Given the description of an element on the screen output the (x, y) to click on. 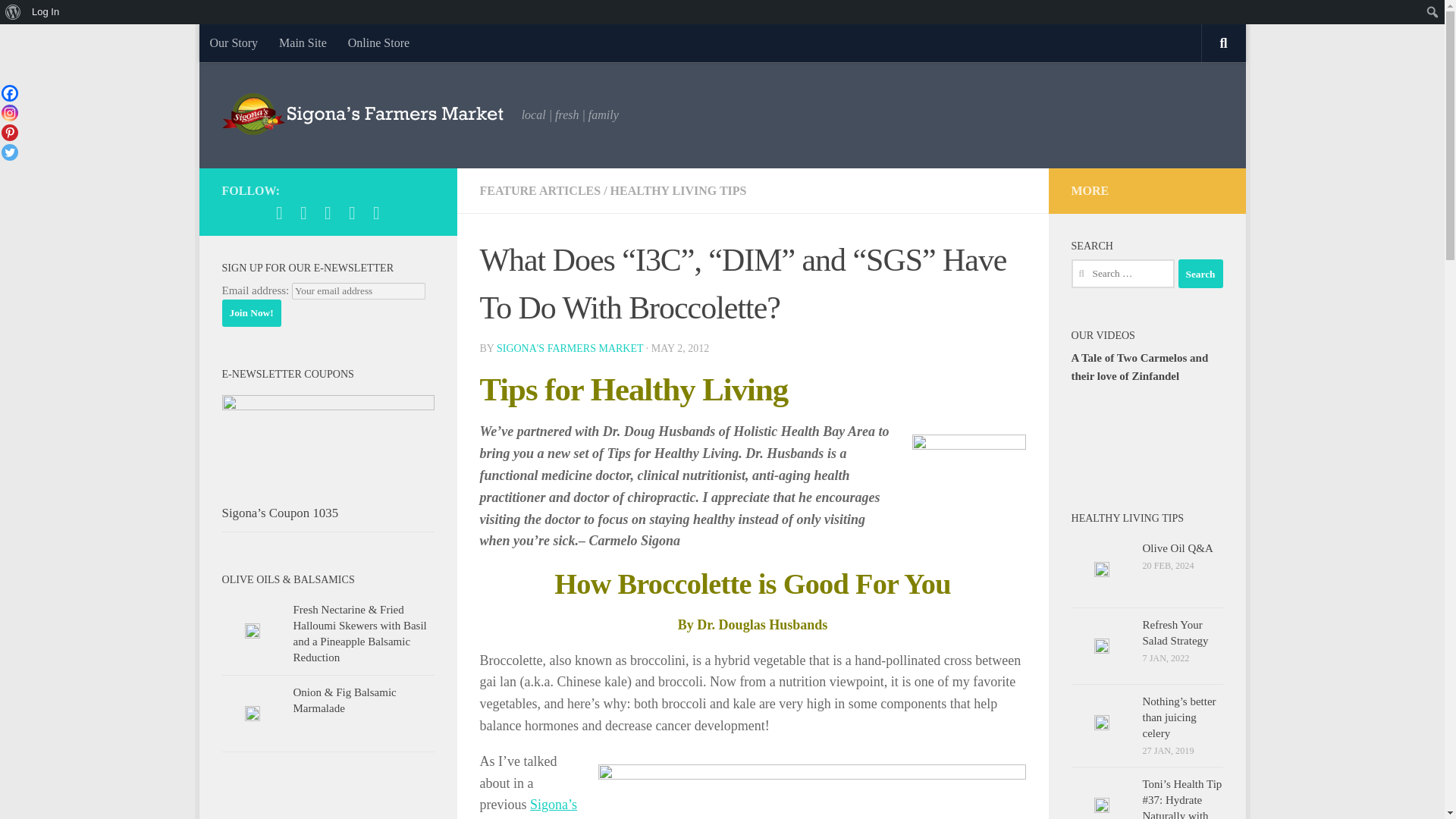
Search (1200, 273)
Pinterest (9, 132)
Main Site (302, 43)
Posts by Sigona's Farmers Market (569, 348)
Twitter (9, 152)
Facebook (9, 93)
Join Now! (251, 312)
Log In (45, 12)
Search (1200, 273)
Instagram (9, 112)
